Given the description of an element on the screen output the (x, y) to click on. 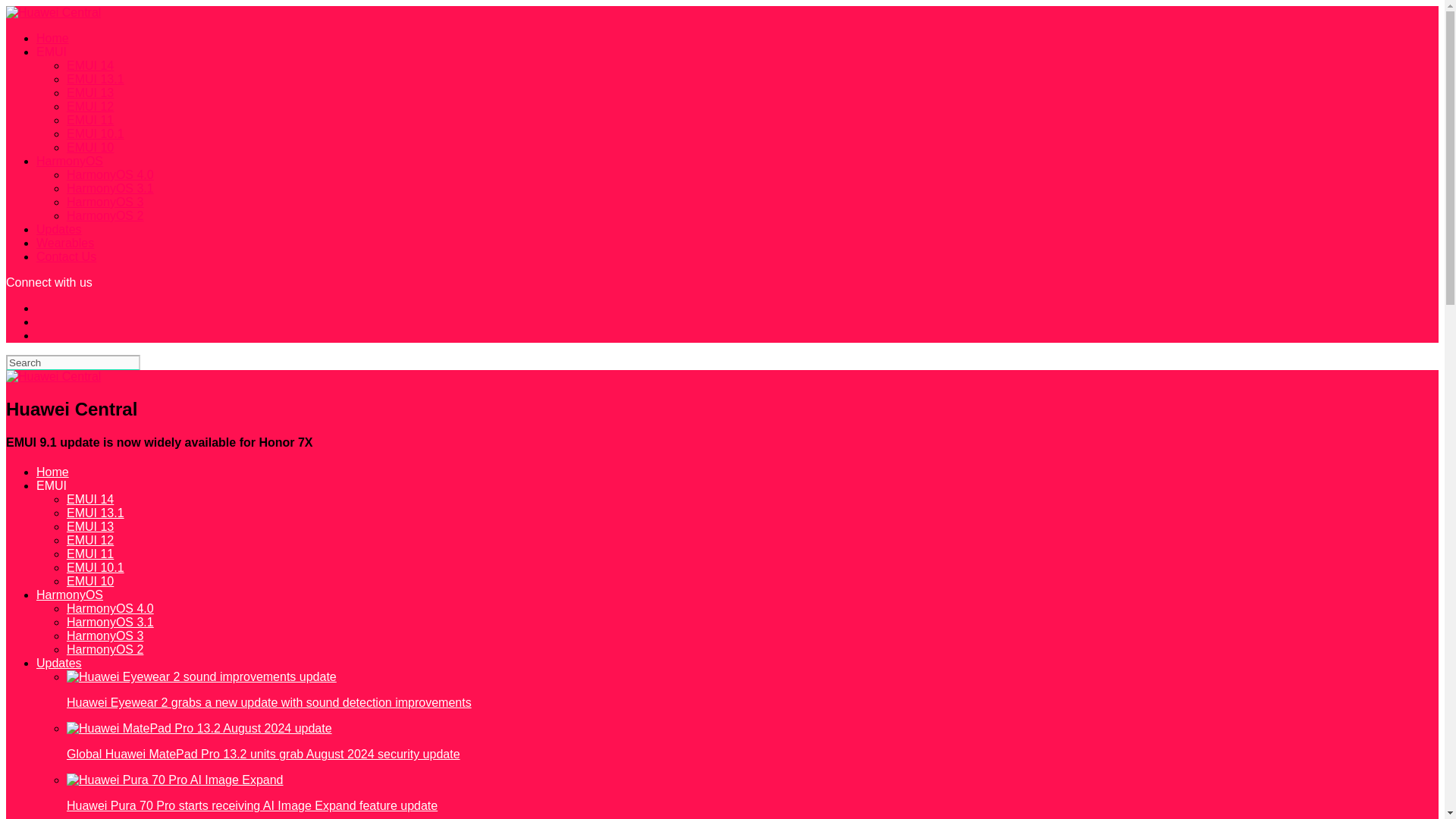
EMUI 12 (89, 106)
HarmonyOS 3 (104, 635)
EMUI (51, 485)
EMUI 10.1 (94, 567)
Updates (58, 662)
EMUI 13.1 (94, 78)
Home (52, 472)
EMUI 14 (89, 499)
Updates (58, 228)
EMUI 13.1 (94, 512)
